Given the description of an element on the screen output the (x, y) to click on. 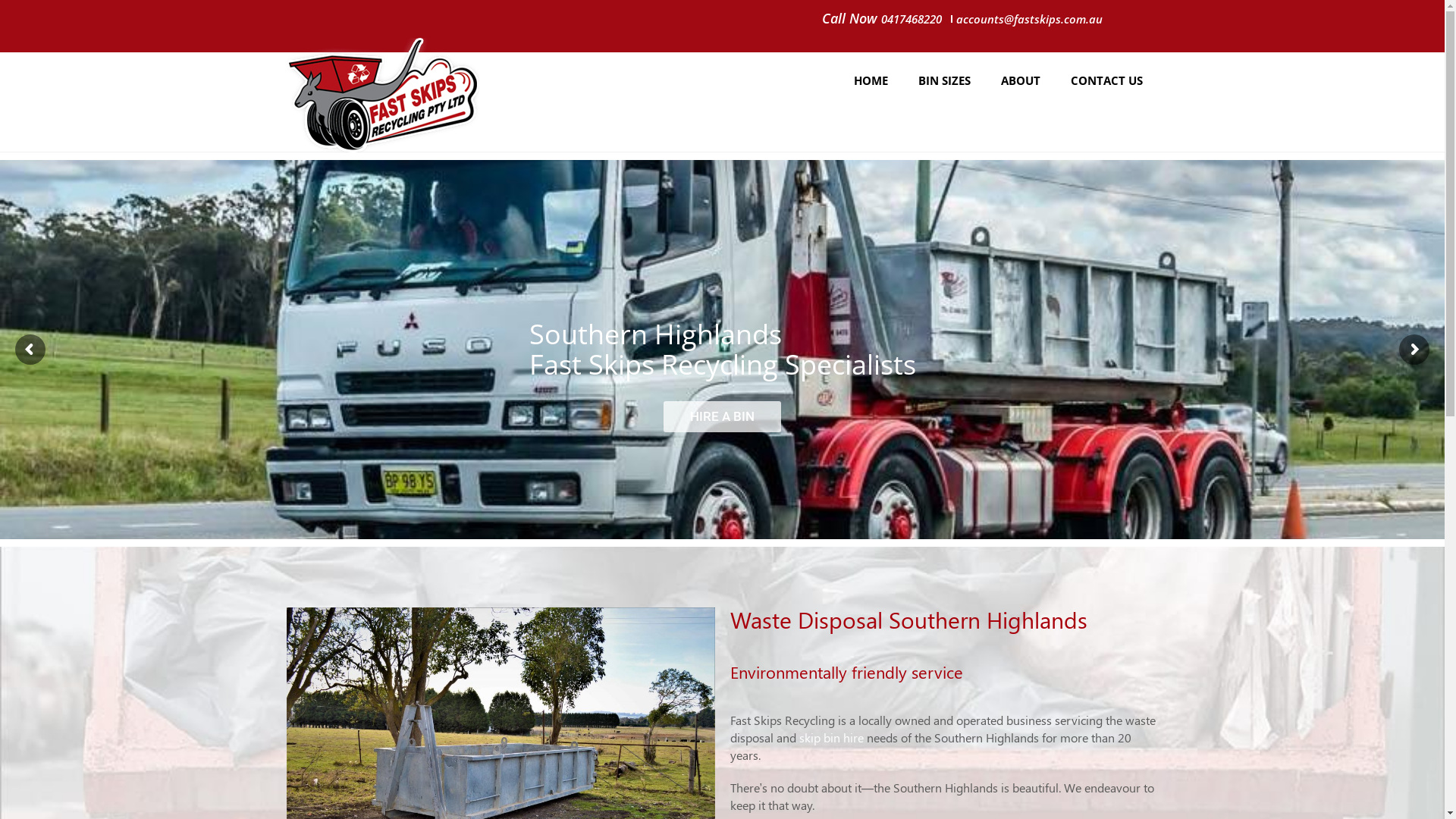
accounts@fastskips.com.au Element type: text (1029, 17)
HOME Element type: text (870, 80)
BIN SIZES Element type: text (944, 80)
0417468220 Element type: text (911, 18)
skip bin hire Element type: text (831, 737)
HIRE A BIN Element type: text (722, 415)
CONTACT US Element type: text (1106, 80)
ABOUT Element type: text (1020, 80)
